Given the description of an element on the screen output the (x, y) to click on. 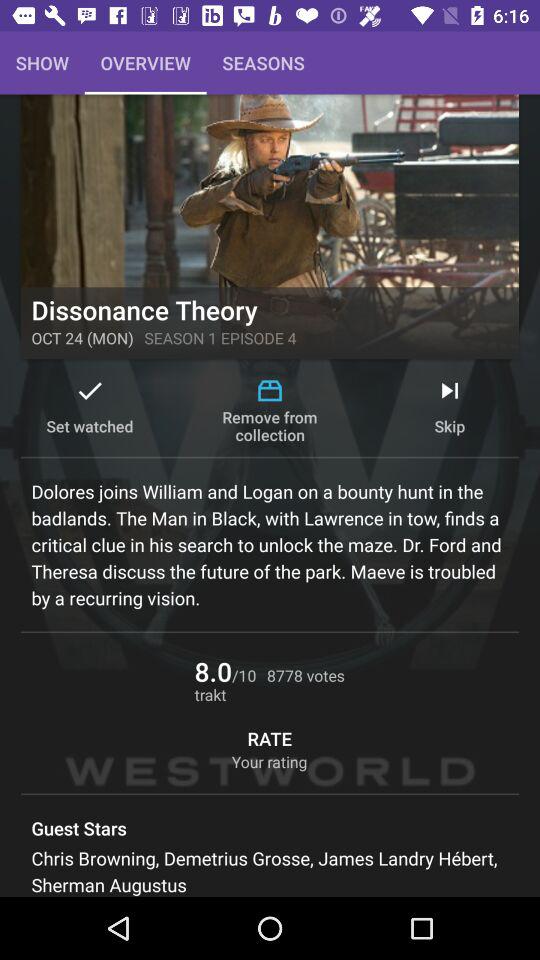
tap the item next to the set watched item (270, 410)
